Given the description of an element on the screen output the (x, y) to click on. 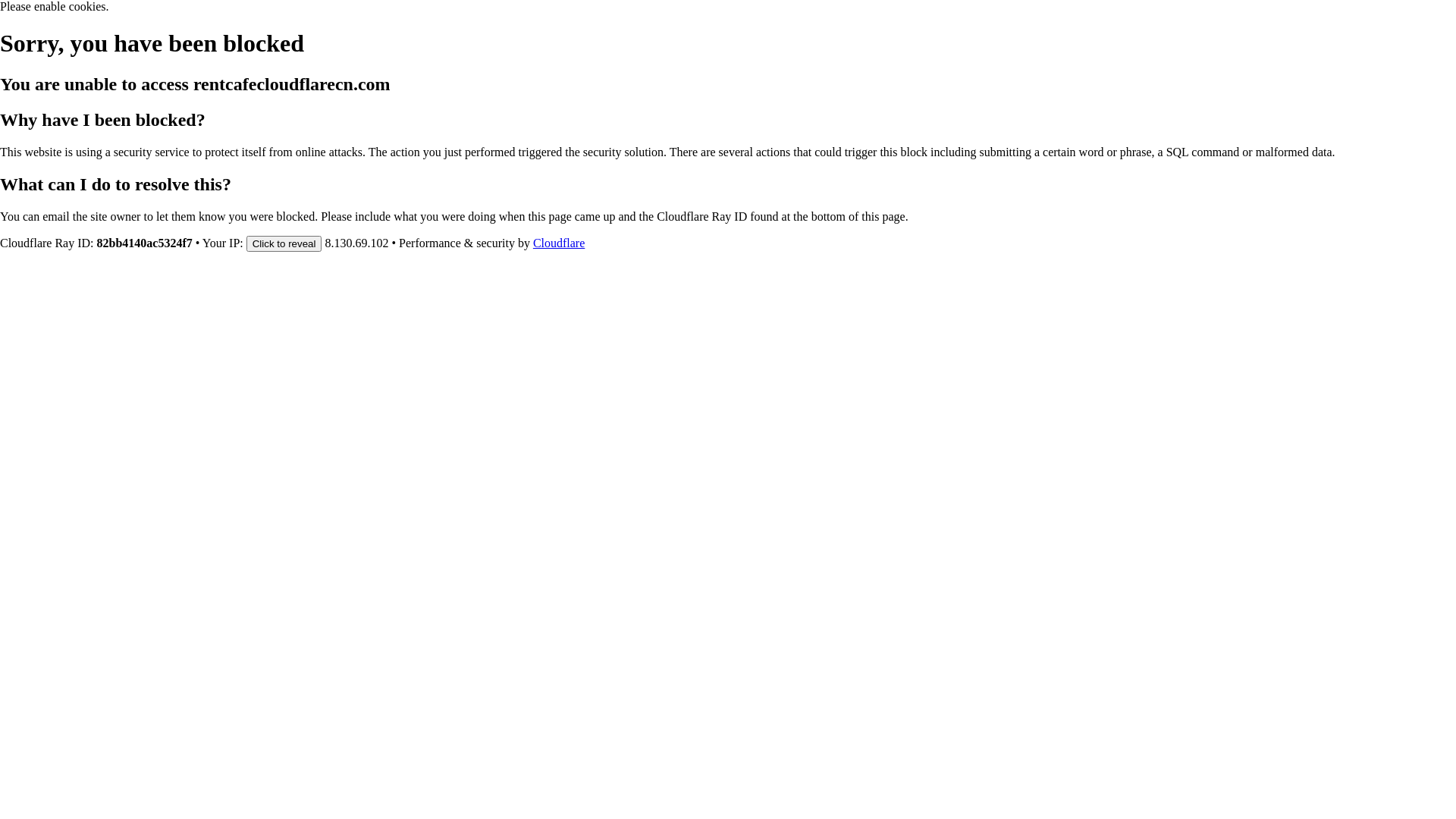
Cloudflare Element type: text (558, 242)
Click to reveal Element type: text (284, 243)
